Given the description of an element on the screen output the (x, y) to click on. 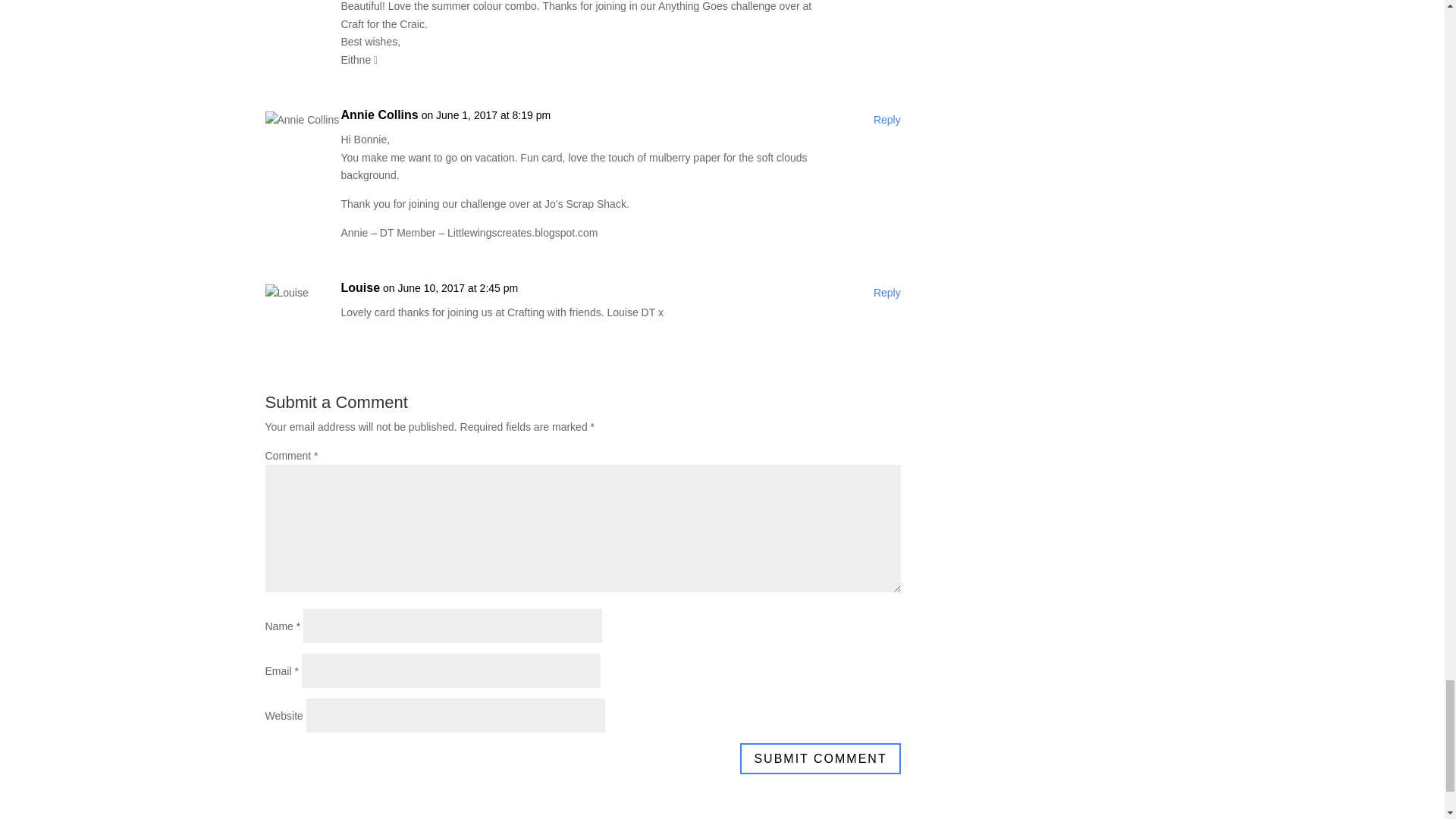
Submit Comment (819, 757)
